Given the description of an element on the screen output the (x, y) to click on. 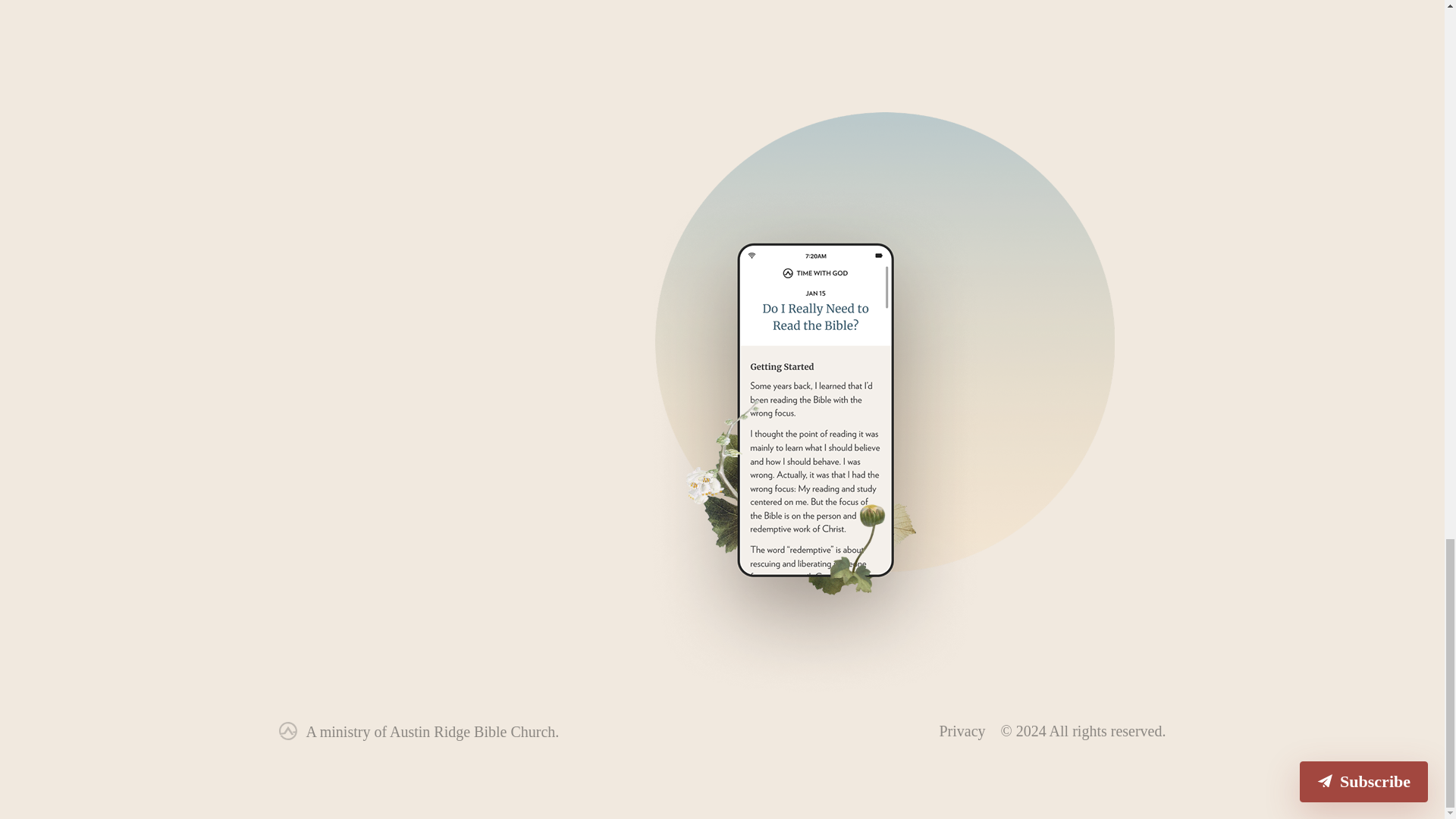
Privacy (962, 730)
A ministry of Austin Ridge Bible Church. (432, 731)
